Given the description of an element on the screen output the (x, y) to click on. 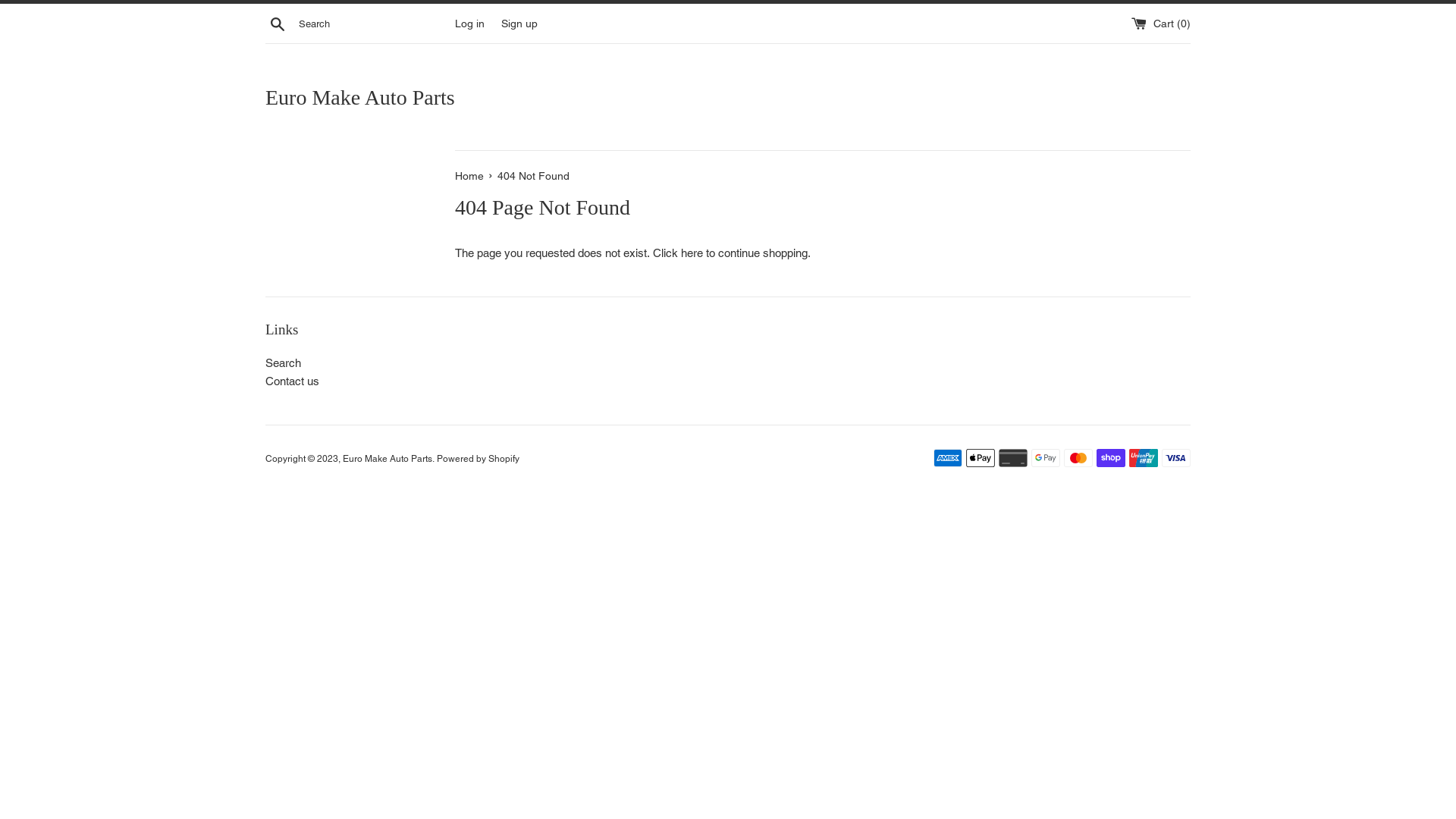
Cart (0) Element type: text (1160, 22)
here Element type: text (691, 252)
Powered by Shopify Element type: text (477, 458)
Home Element type: text (470, 175)
Log in Element type: text (469, 22)
Contact us Element type: text (292, 380)
Euro Make Auto Parts Element type: text (387, 458)
Sign up Element type: text (519, 22)
Euro Make Auto Parts Element type: text (727, 97)
Search Element type: text (283, 362)
Search Element type: text (277, 23)
